Given the description of an element on the screen output the (x, y) to click on. 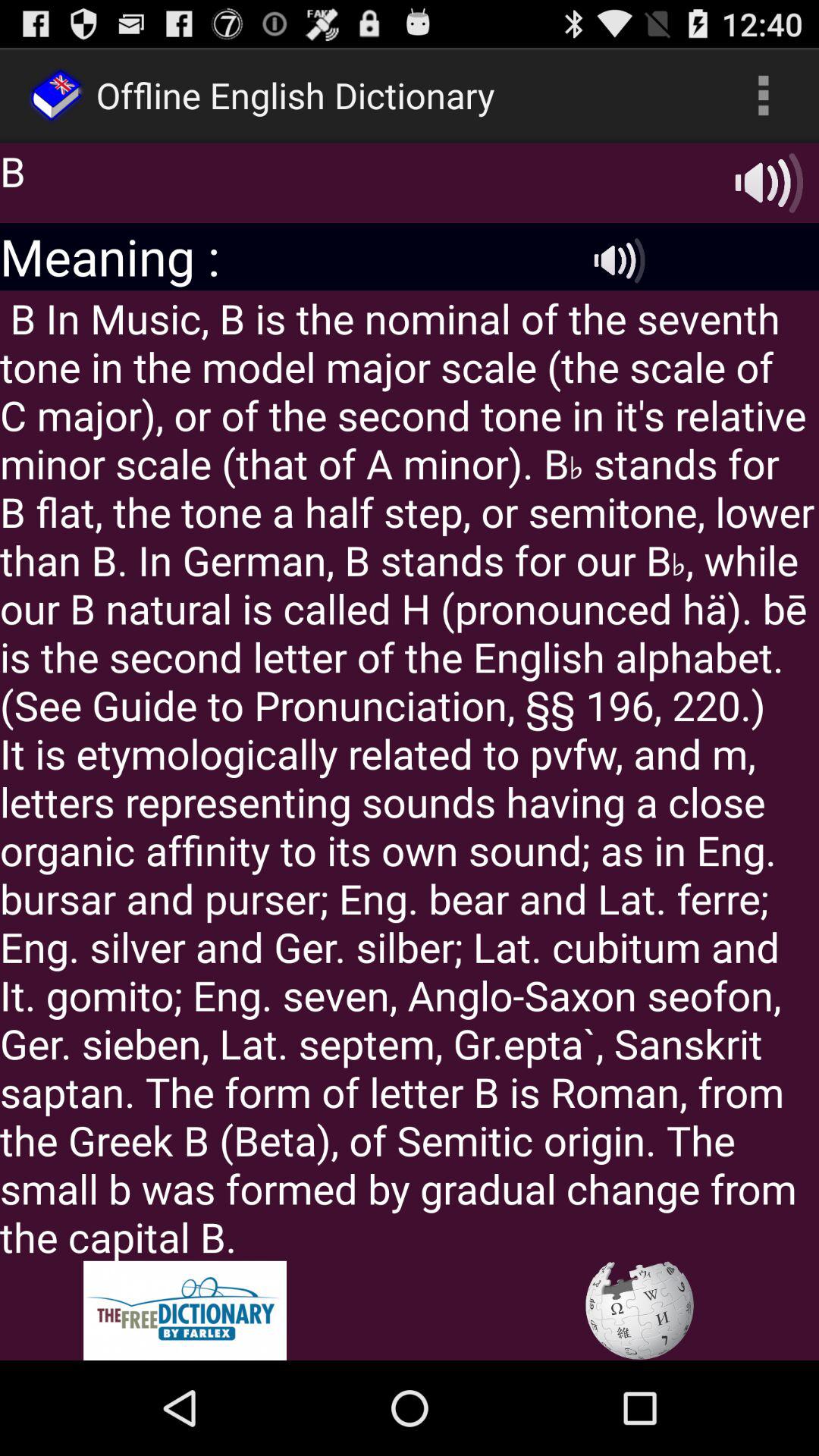
tap the item next to offline english dictionary (763, 95)
